Given the description of an element on the screen output the (x, y) to click on. 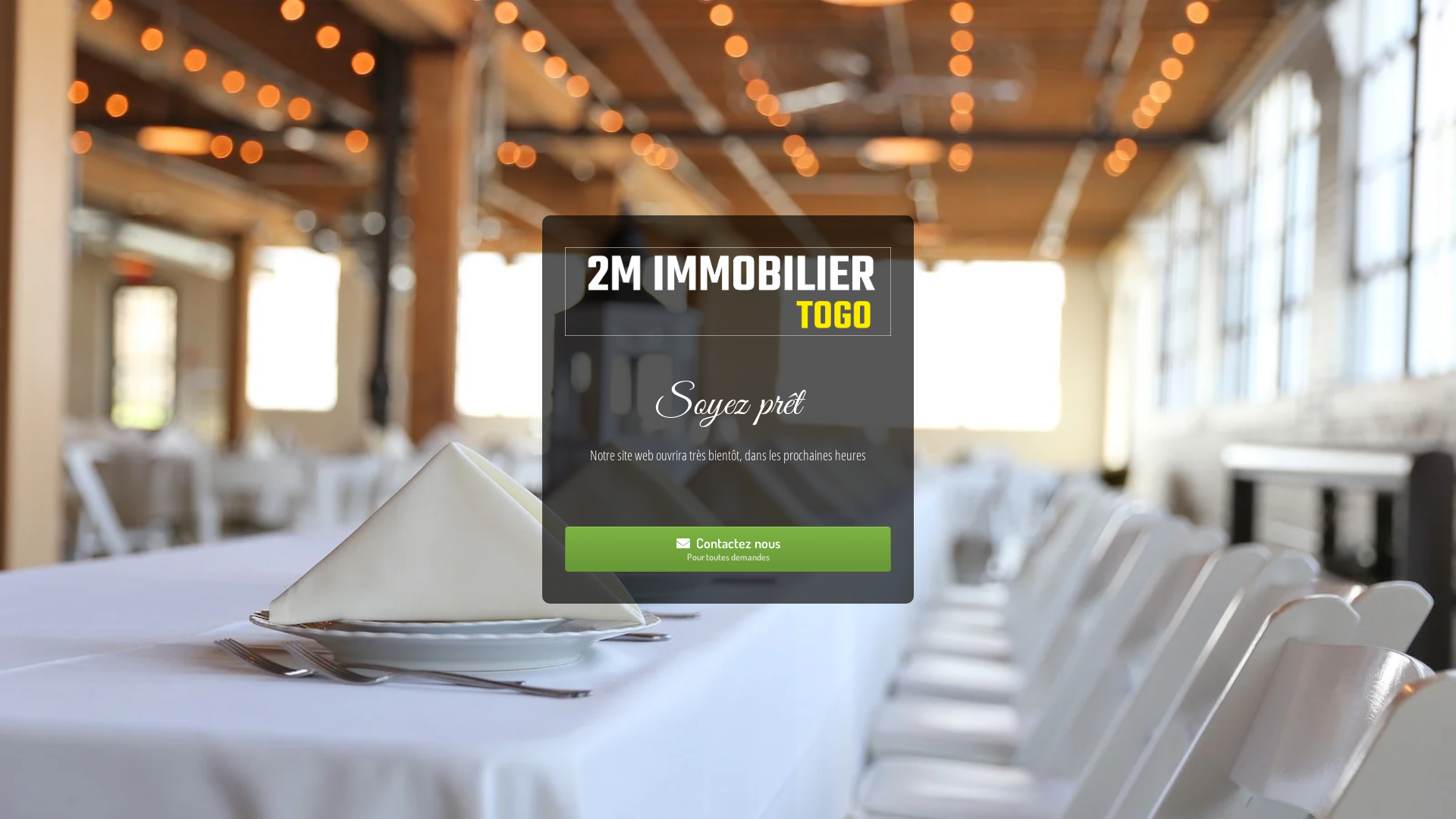
Contactez nous
Pour toutes demandes Element type: text (727, 548)
